Given the description of an element on the screen output the (x, y) to click on. 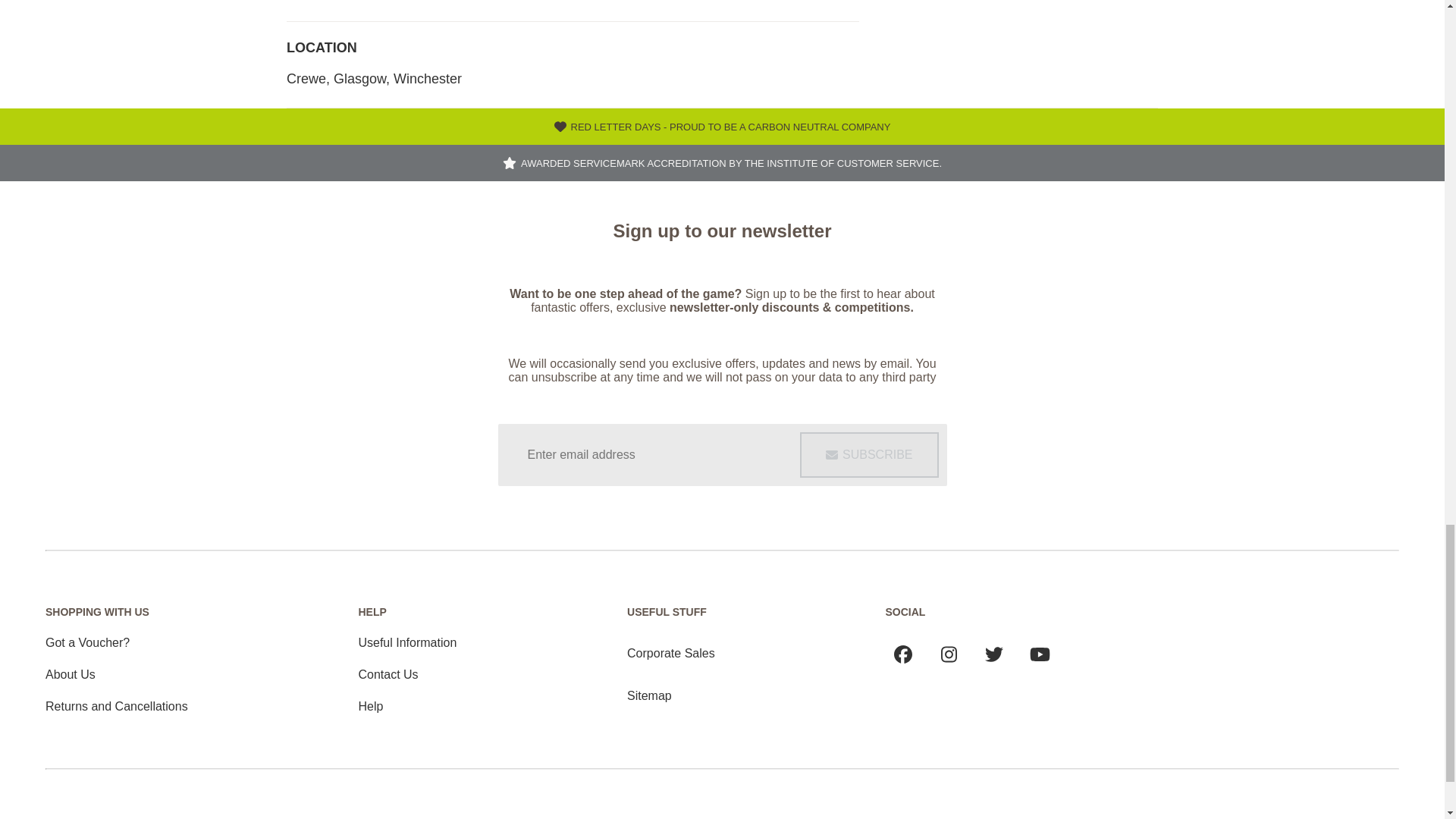
instagram (948, 654)
twitter (993, 654)
facebook (903, 654)
youtube (1040, 654)
